Given the description of an element on the screen output the (x, y) to click on. 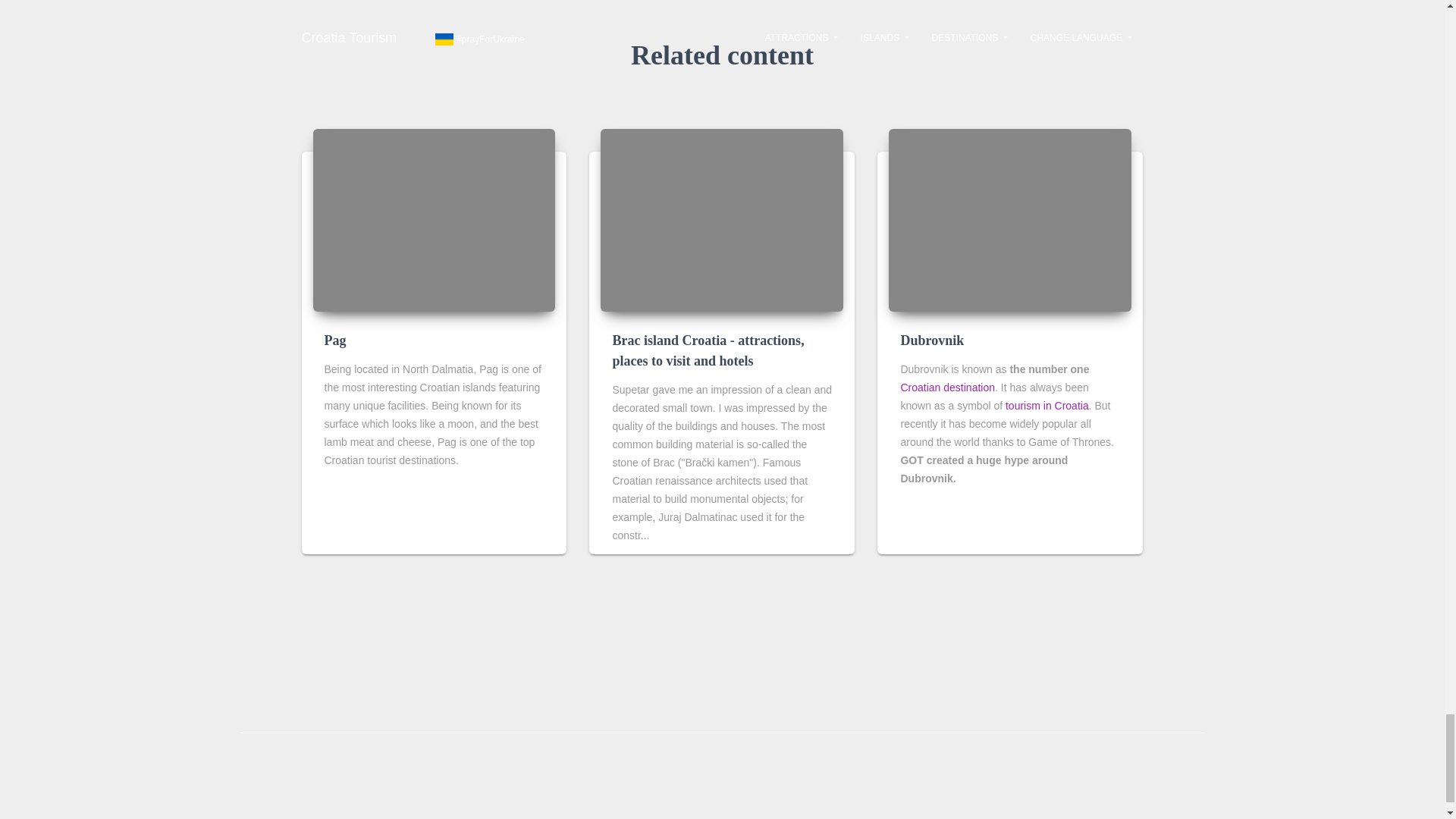
Dubrovnik from Srdj (1009, 219)
Supetar Riva (721, 219)
Pag city beach (433, 219)
